Given the description of an element on the screen output the (x, y) to click on. 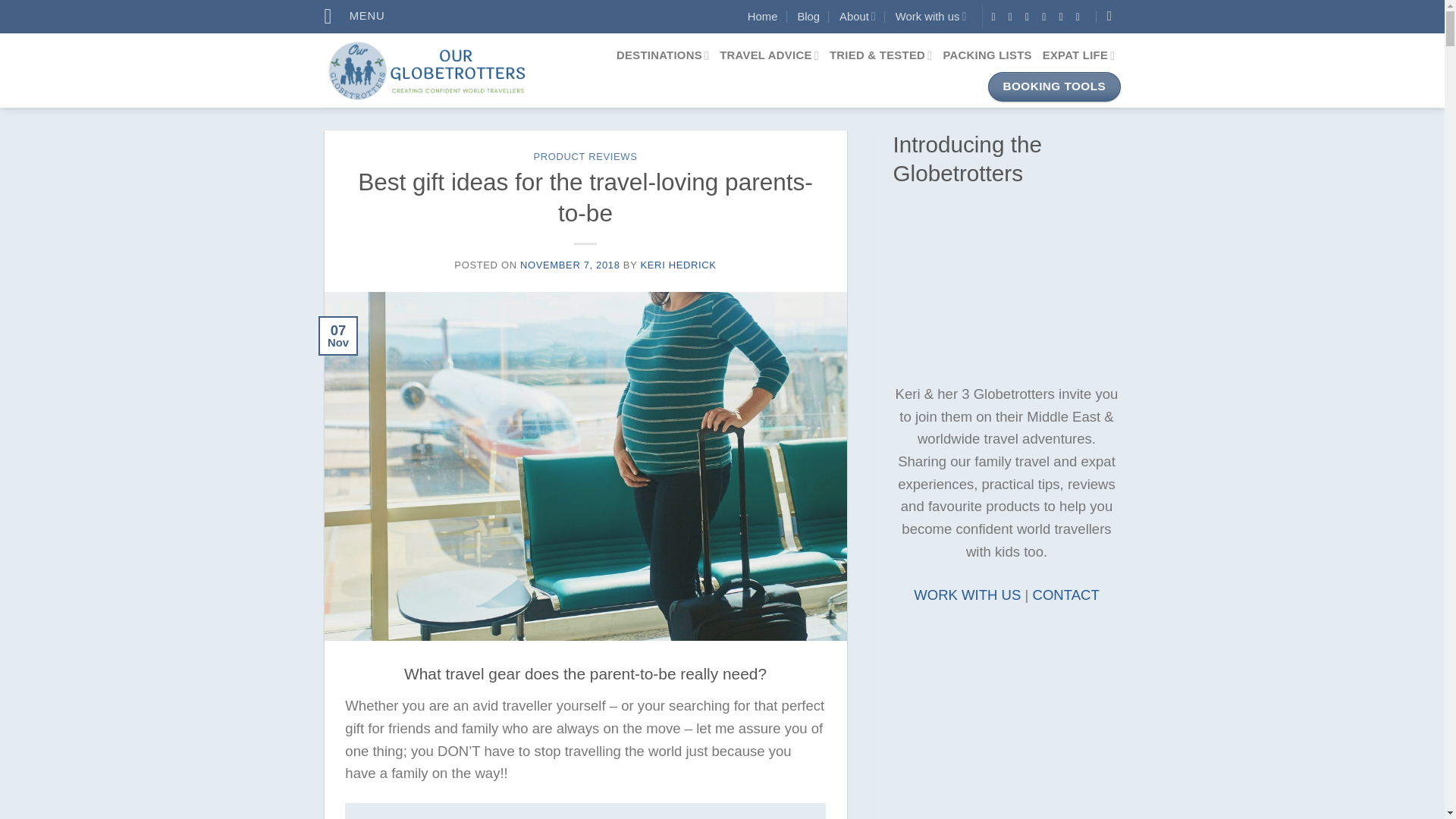
Reviews on family travel destinations (662, 55)
About (858, 15)
DESTINATIONS (662, 55)
TRAVEL ADVICE (768, 55)
MENU (354, 16)
Blog (807, 15)
Home (762, 15)
Work with us (930, 15)
Our Globetrotters - Creating Confident World Travellers (443, 70)
